Given the description of an element on the screen output the (x, y) to click on. 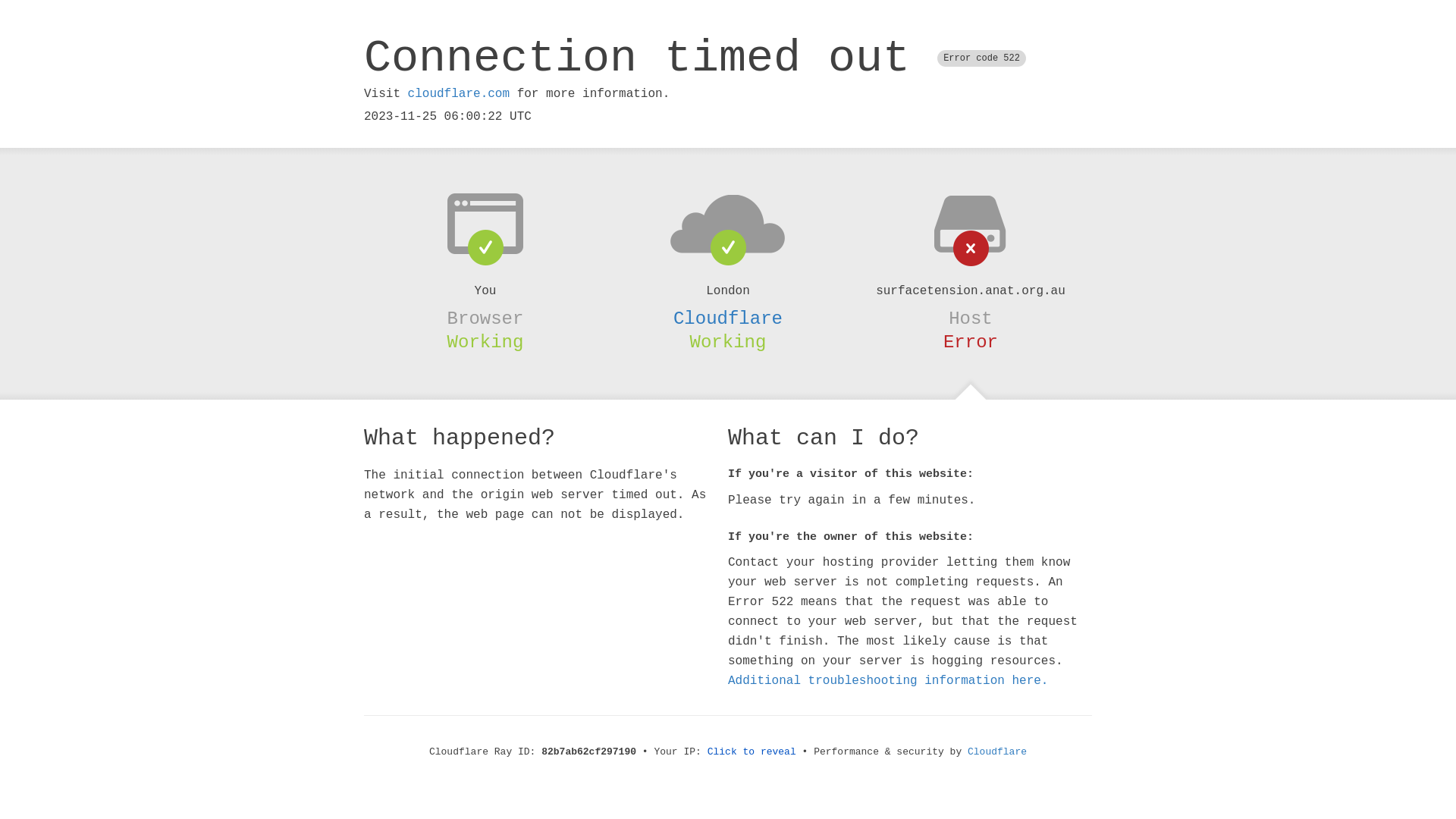
Cloudflare Element type: text (996, 751)
cloudflare.com Element type: text (458, 93)
Click to reveal Element type: text (751, 751)
Additional troubleshooting information here. Element type: text (888, 680)
Cloudflare Element type: text (727, 318)
